Given the description of an element on the screen output the (x, y) to click on. 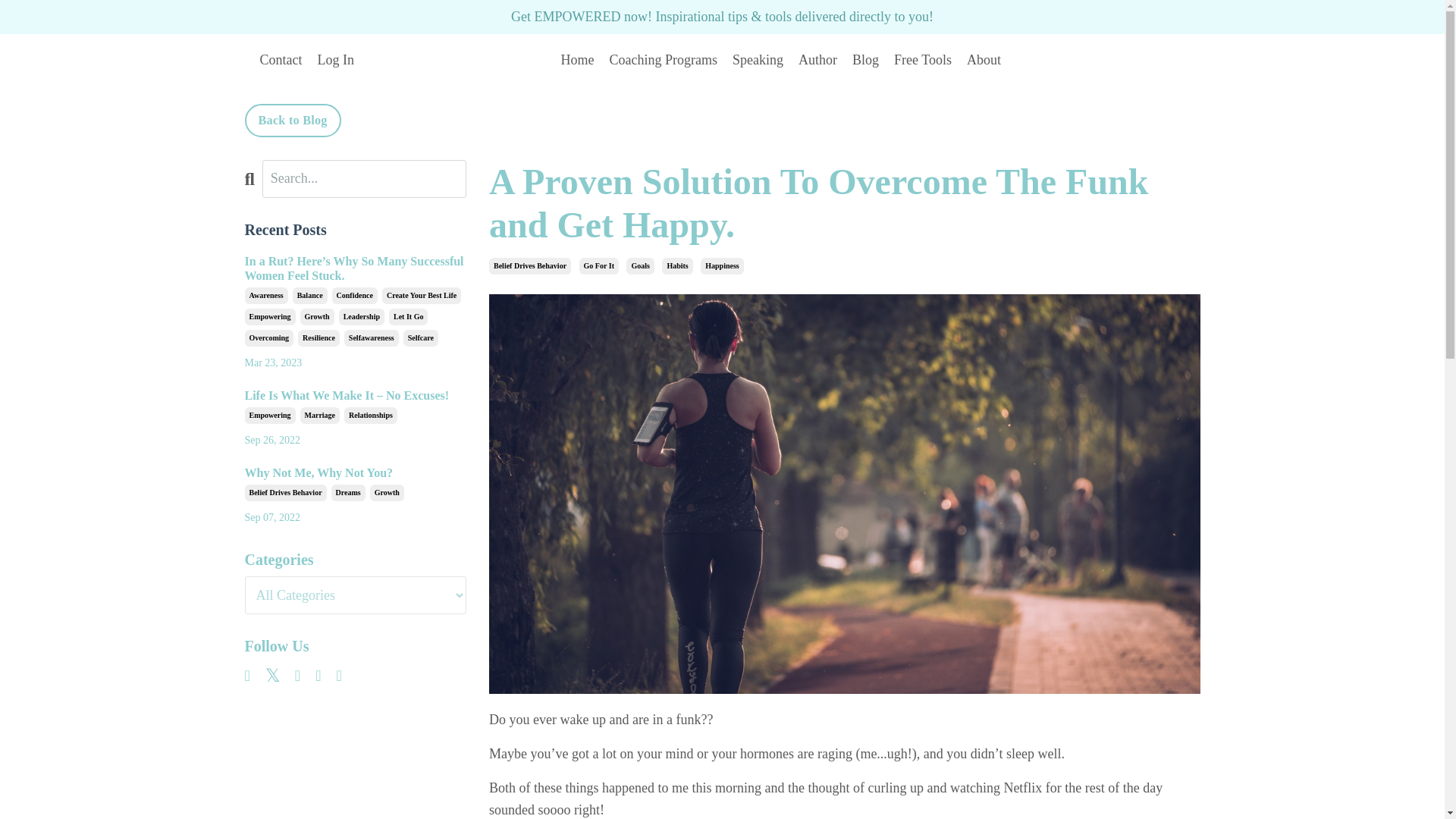
Free Tools (922, 60)
Balance (309, 295)
Growth (316, 316)
Confidence (354, 295)
Belief Drives Behavior (529, 265)
Author (817, 60)
Contact (280, 60)
Overcoming (269, 338)
Selfawareness (370, 338)
About (983, 60)
Go For It (598, 265)
Empowering (269, 415)
Marriage (319, 415)
Habits (677, 265)
Selfcare (420, 338)
